Given the description of an element on the screen output the (x, y) to click on. 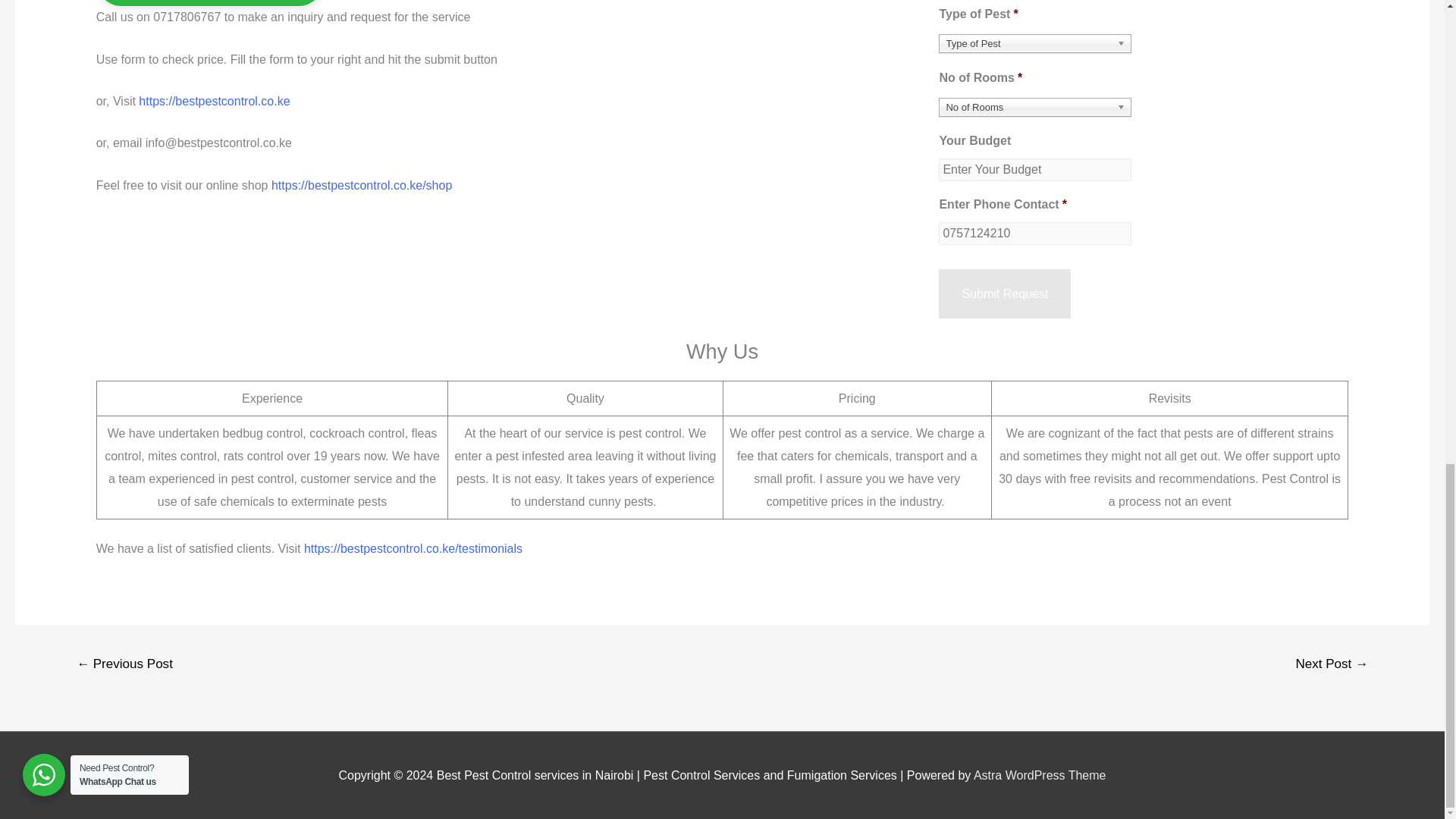
No of Rooms (1035, 107)
Type of Pest (1035, 43)
Submit Request (1004, 294)
Astra WordPress Theme (1040, 775)
Submit Request (1004, 294)
